Given the description of an element on the screen output the (x, y) to click on. 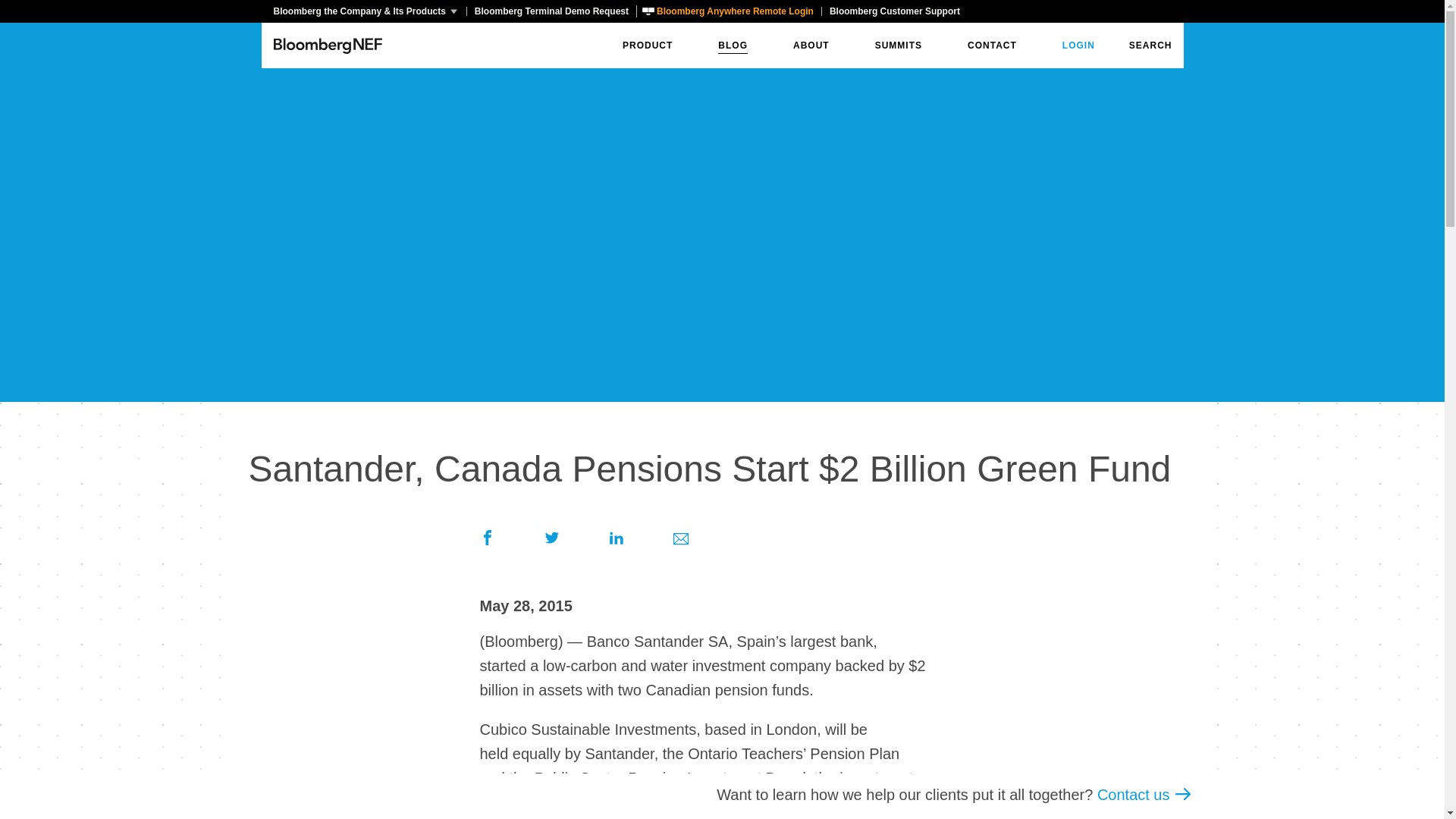
Bloomberg Customer Support (894, 10)
Bloomberg Anywhere Remote Login (728, 10)
Bloomberg Terminal Demo Request (550, 10)
